Given the description of an element on the screen output the (x, y) to click on. 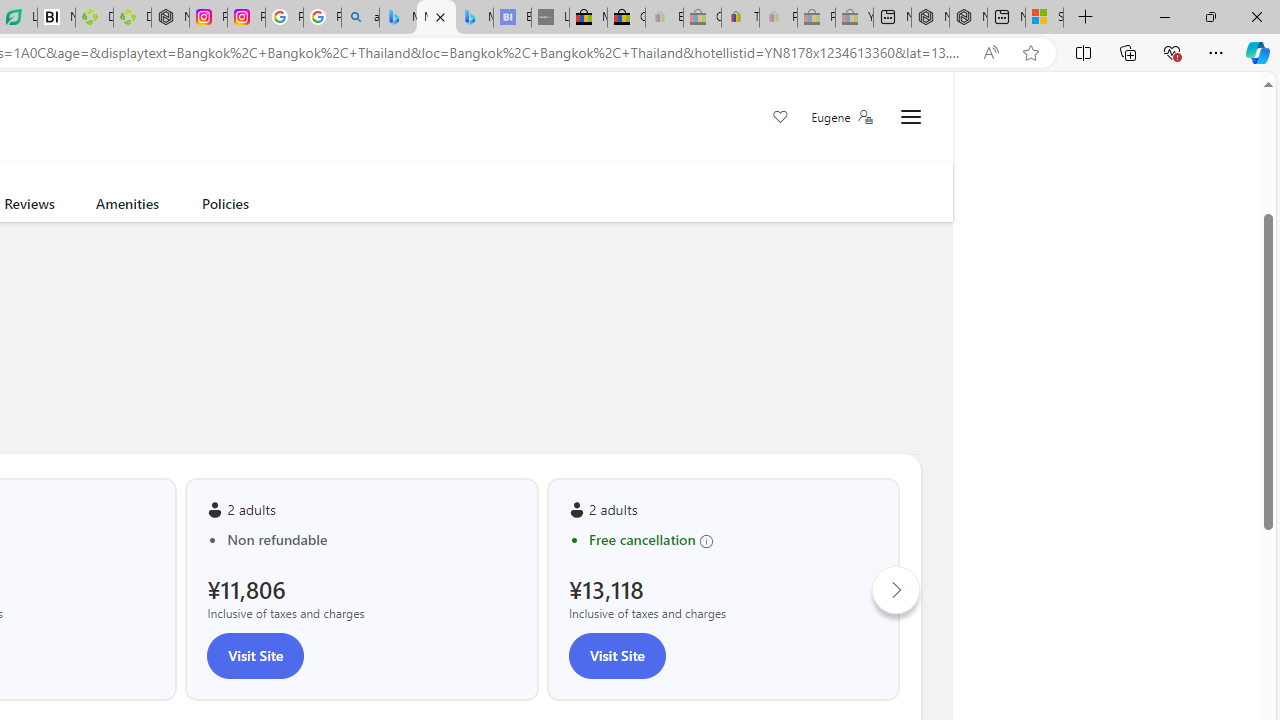
Sign in to your Microsoft account (1044, 17)
Amenities (126, 207)
Nvidia va a poner a prueba la paciencia de los inversores (56, 17)
Press Room - eBay Inc. - Sleeping (815, 17)
